Given the description of an element on the screen output the (x, y) to click on. 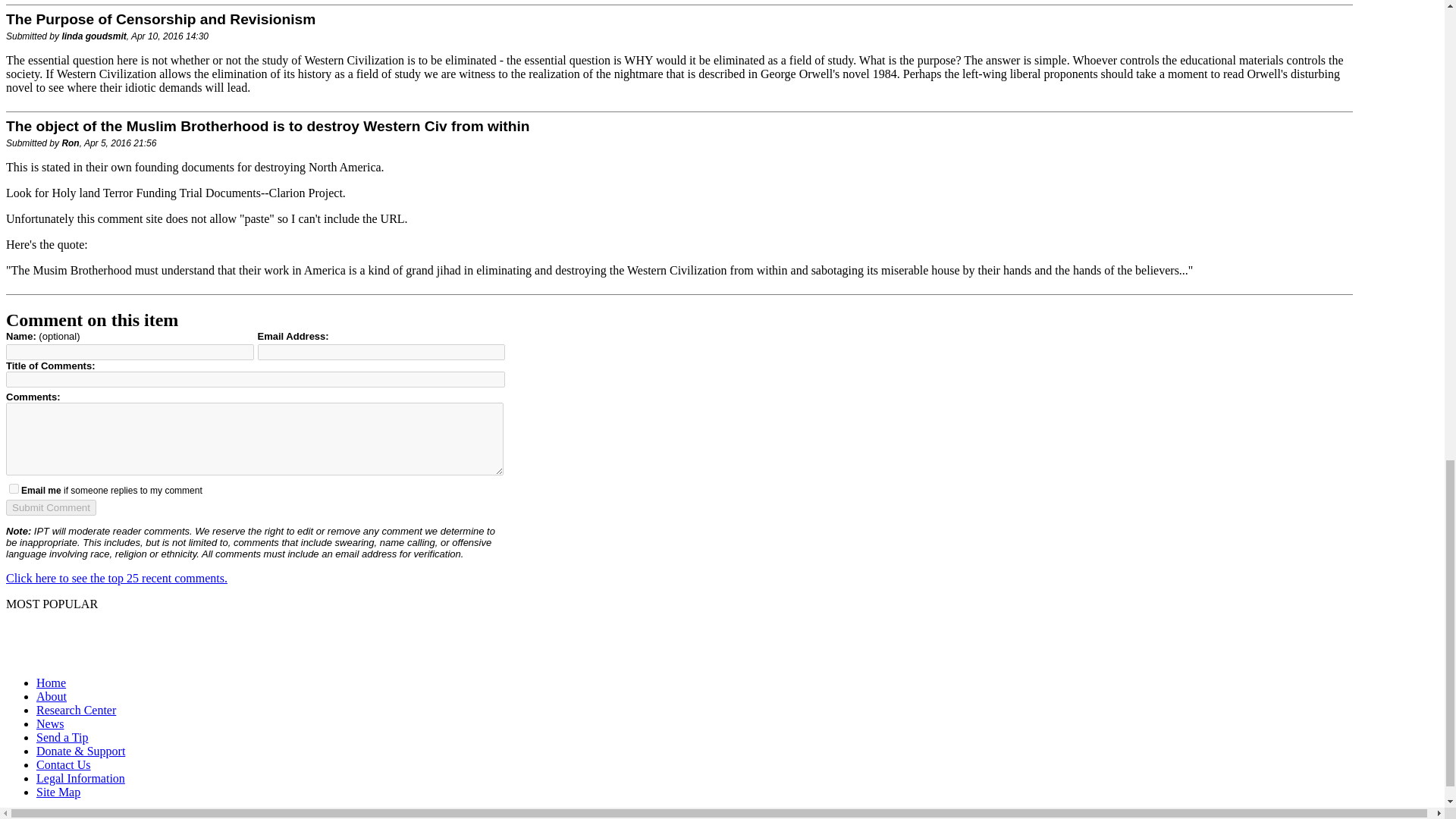
1 (13, 488)
Submit Comment (50, 507)
